Given the description of an element on the screen output the (x, y) to click on. 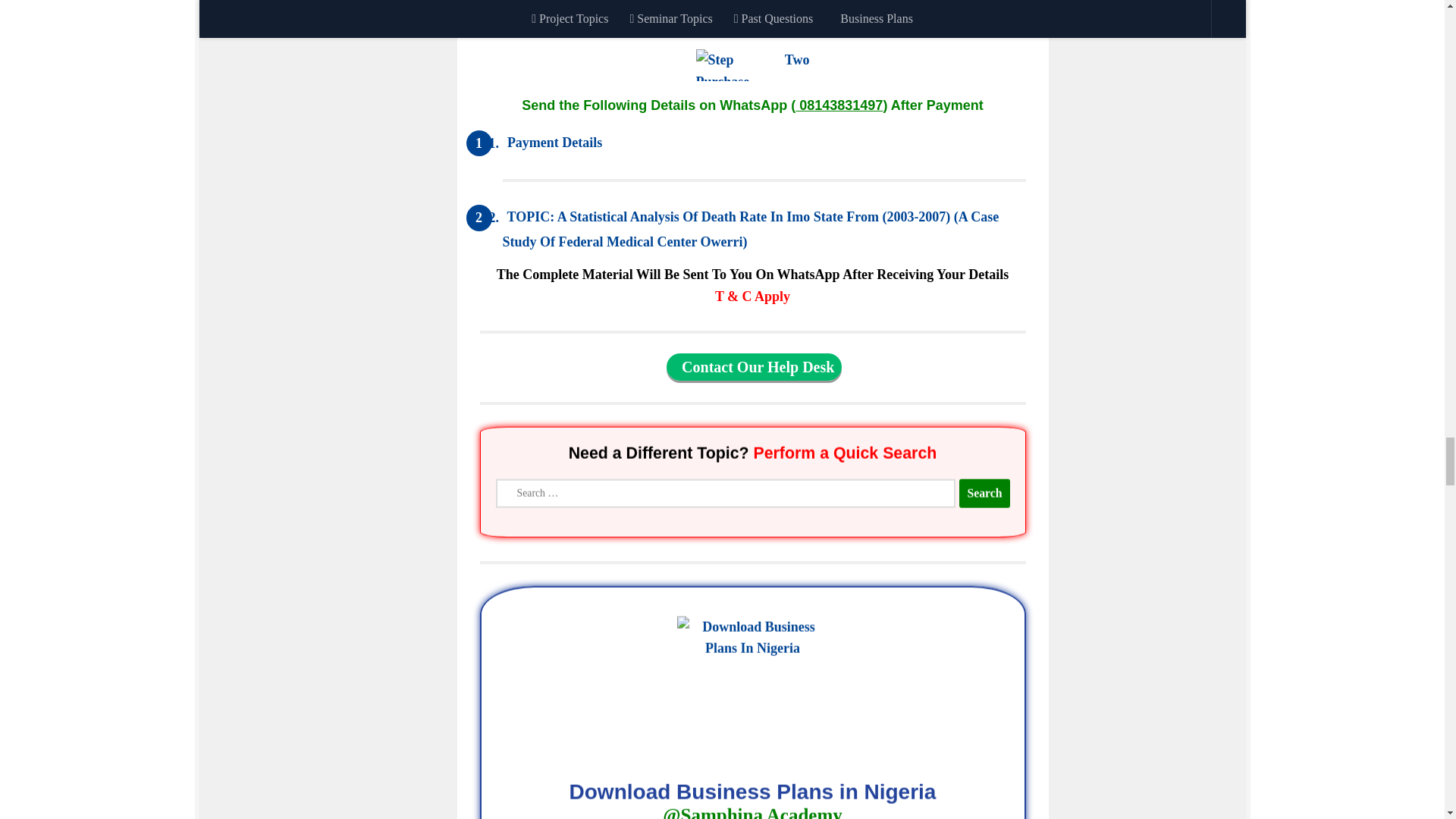
08143831497 (838, 105)
Contact Information Page (753, 366)
Contact Our Help Desk (753, 366)
Download Business Plans in Nigeria (752, 802)
Search (984, 492)
Search (984, 492)
Samphina Terms and Conditions (752, 296)
Search (984, 493)
